Given the description of an element on the screen output the (x, y) to click on. 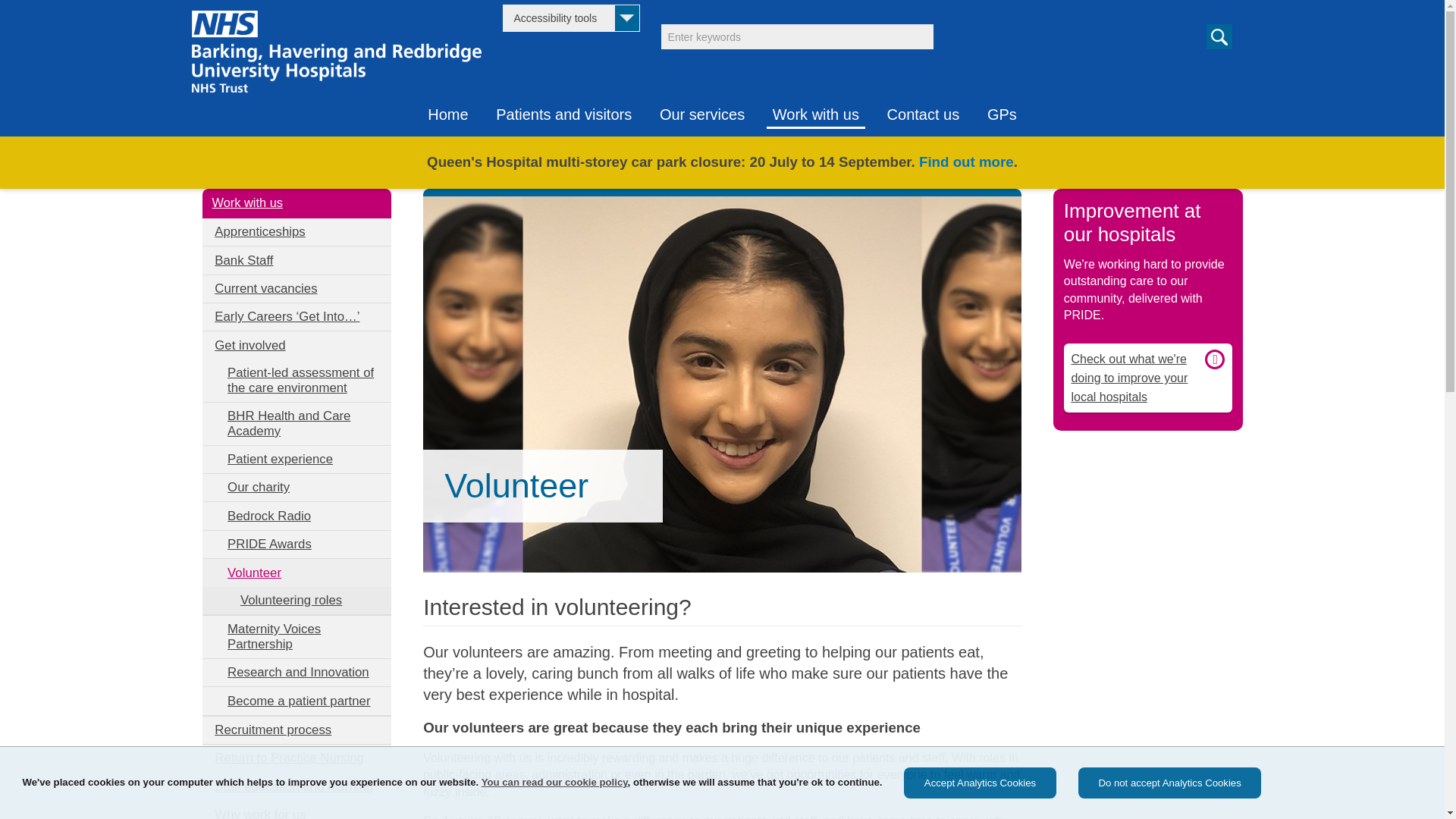
GPs (1002, 110)
Volunteer (296, 572)
Home (448, 110)
Contact us (923, 110)
Our services (702, 110)
Do not accept Analytics Cookies (1169, 782)
Bank Staff (296, 259)
PRIDE Awards (296, 543)
Apprenticeships (296, 231)
Patients and visitors (563, 110)
